Given the description of an element on the screen output the (x, y) to click on. 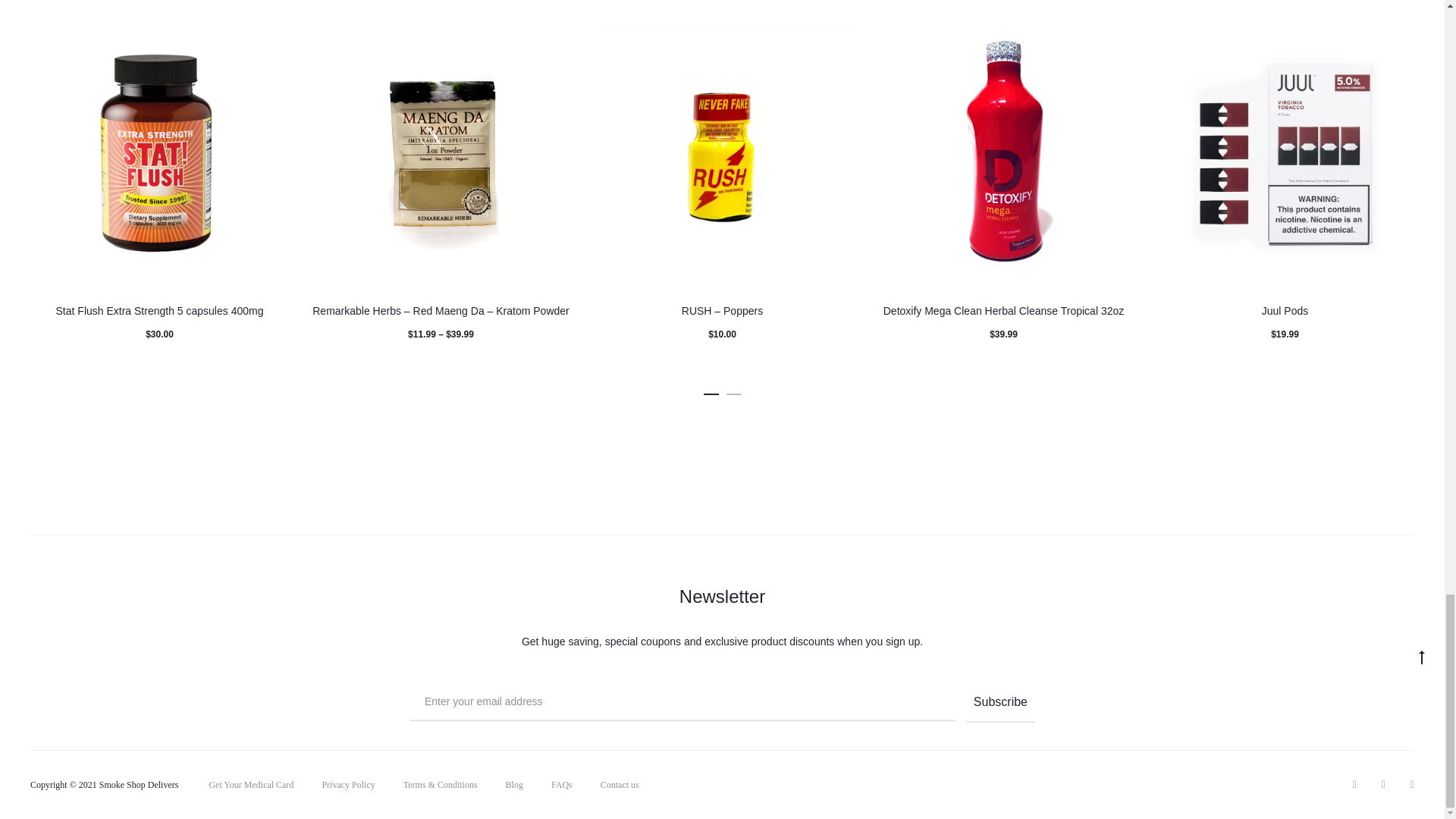
Subscribe (1000, 703)
